Given the description of an element on the screen output the (x, y) to click on. 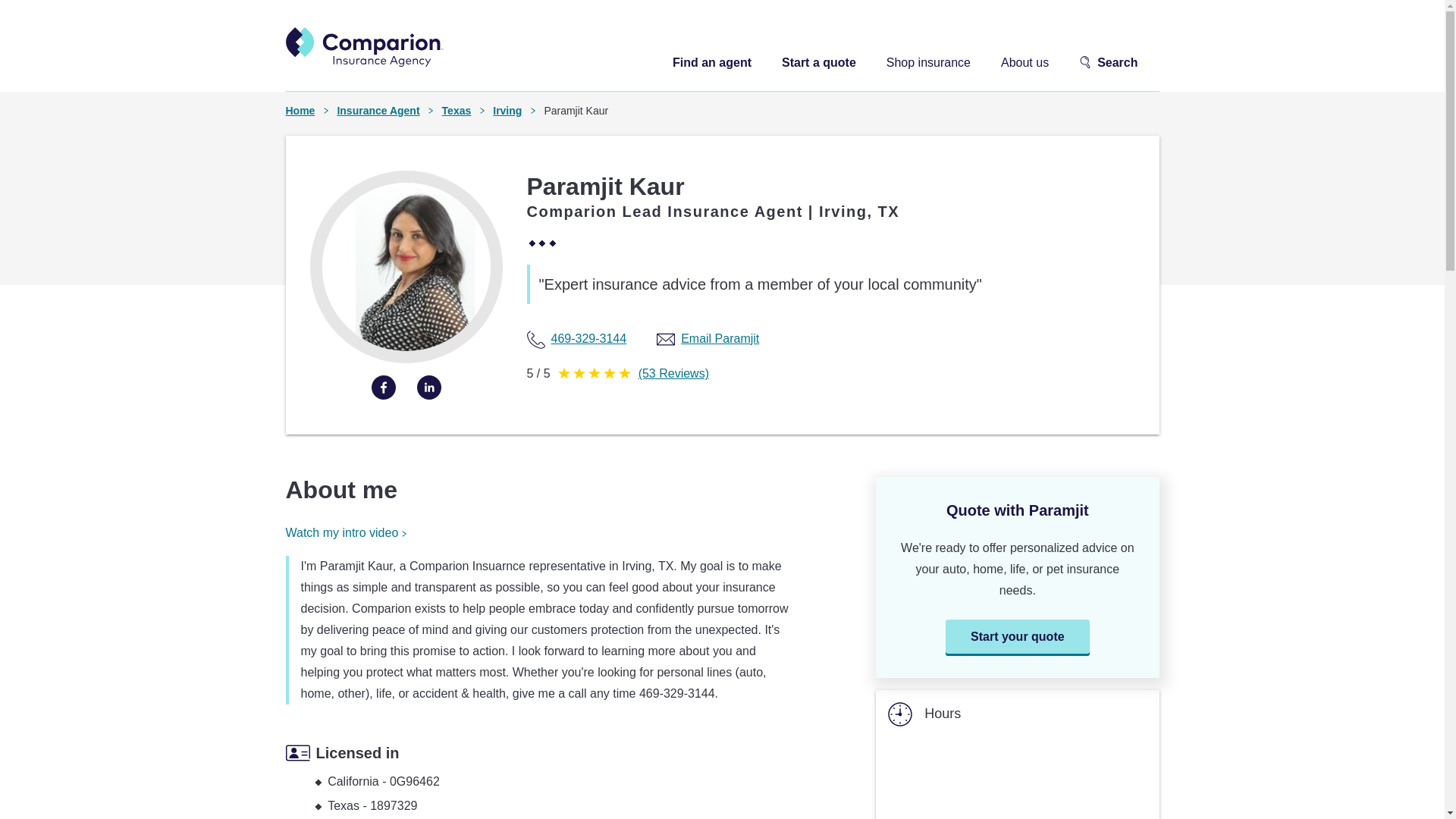
Search (1107, 63)
Email Paramjit (722, 338)
469-329-3144 (590, 338)
Book an appointment (955, 816)
Home (299, 110)
Insurance Agent (377, 110)
Irving (507, 110)
Watch my intro video (346, 532)
Texas (456, 110)
Find an agent (711, 62)
